Given the description of an element on the screen output the (x, y) to click on. 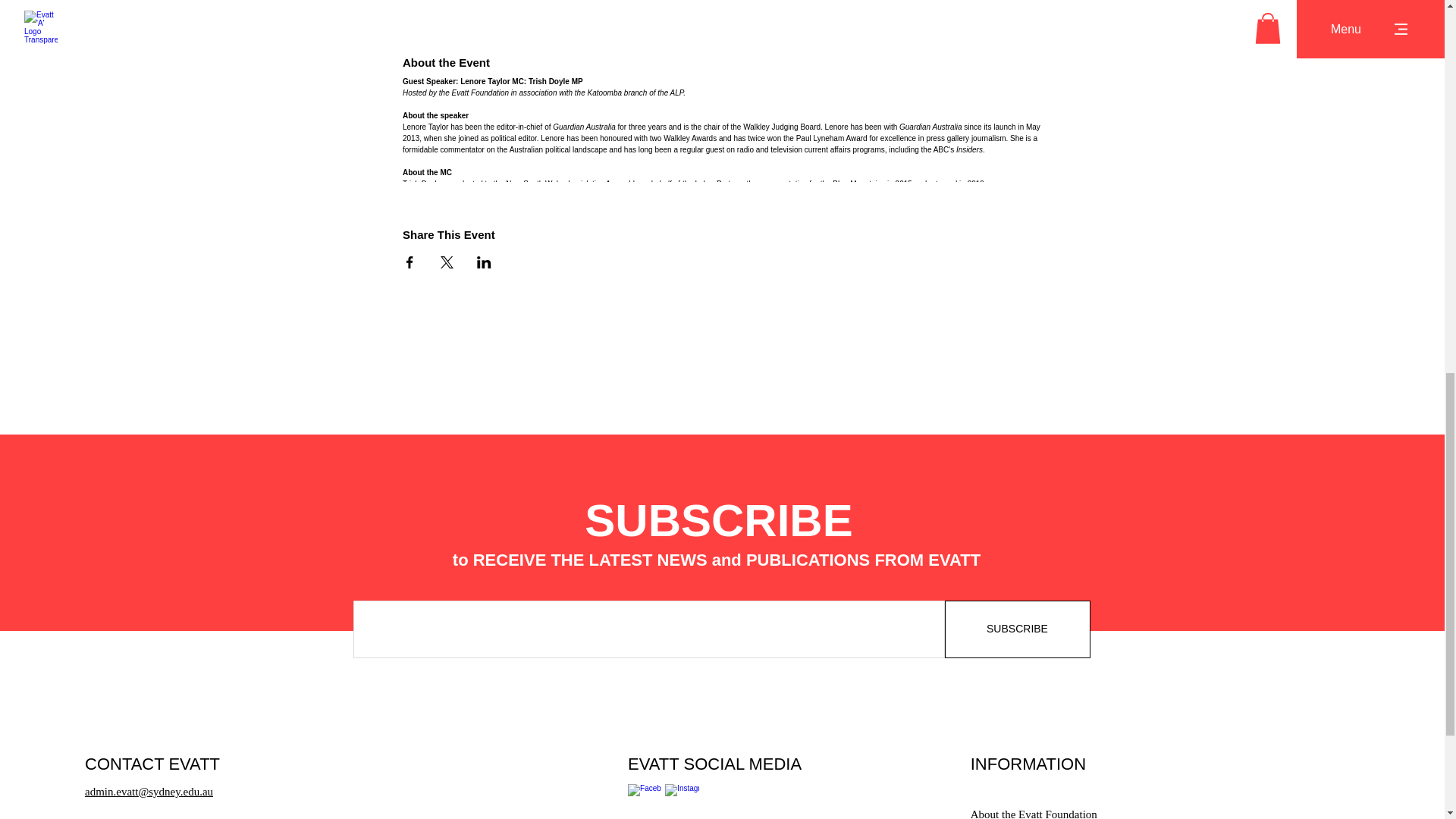
About the Evatt Foundation (1034, 814)
SUBSCRIBE (1017, 629)
CONTACT EVATT (151, 763)
